Given the description of an element on the screen output the (x, y) to click on. 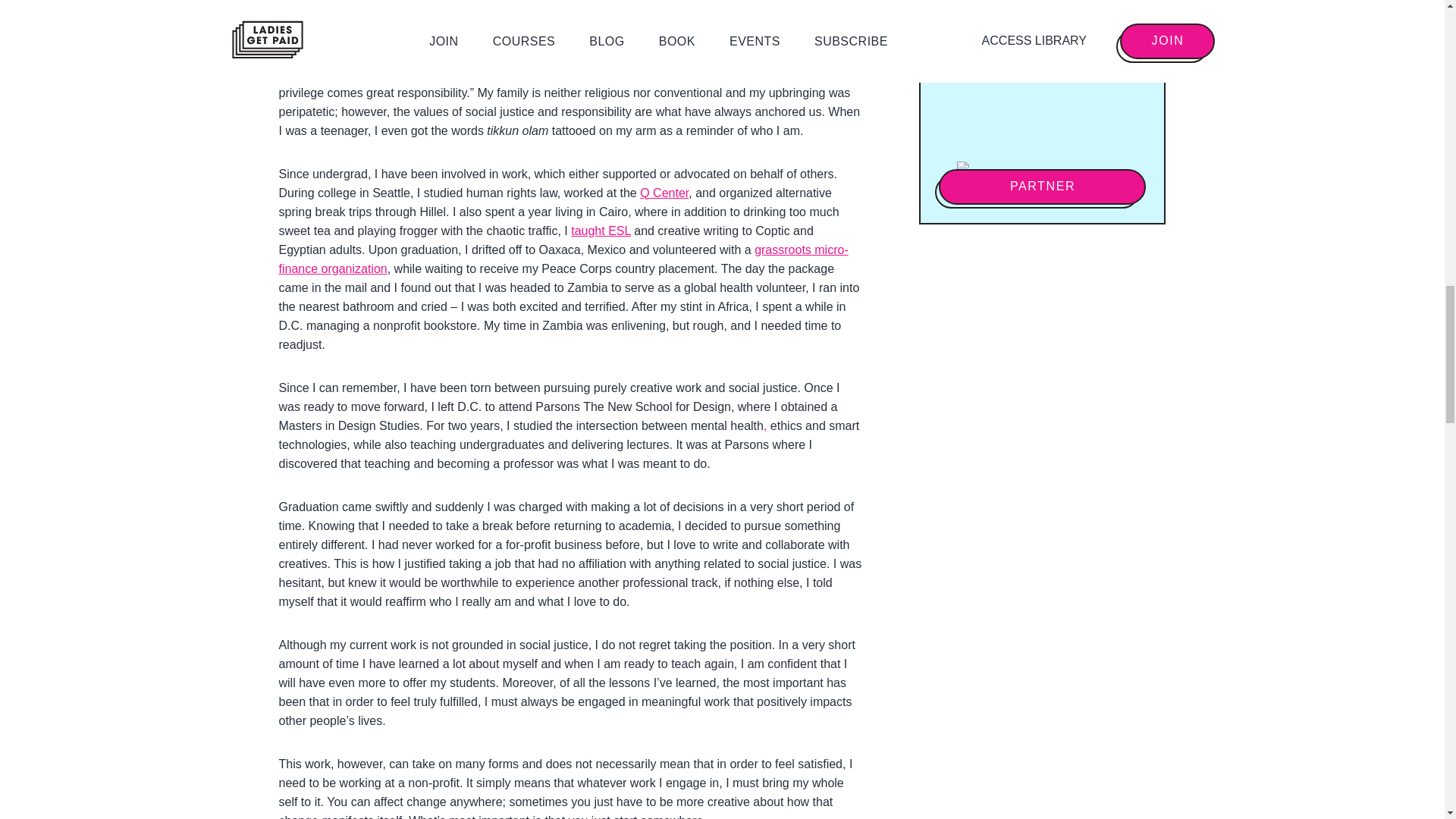
Q Center (664, 192)
taught ESL (600, 230)
grassroots micro-finance organization (563, 259)
